Given the description of an element on the screen output the (x, y) to click on. 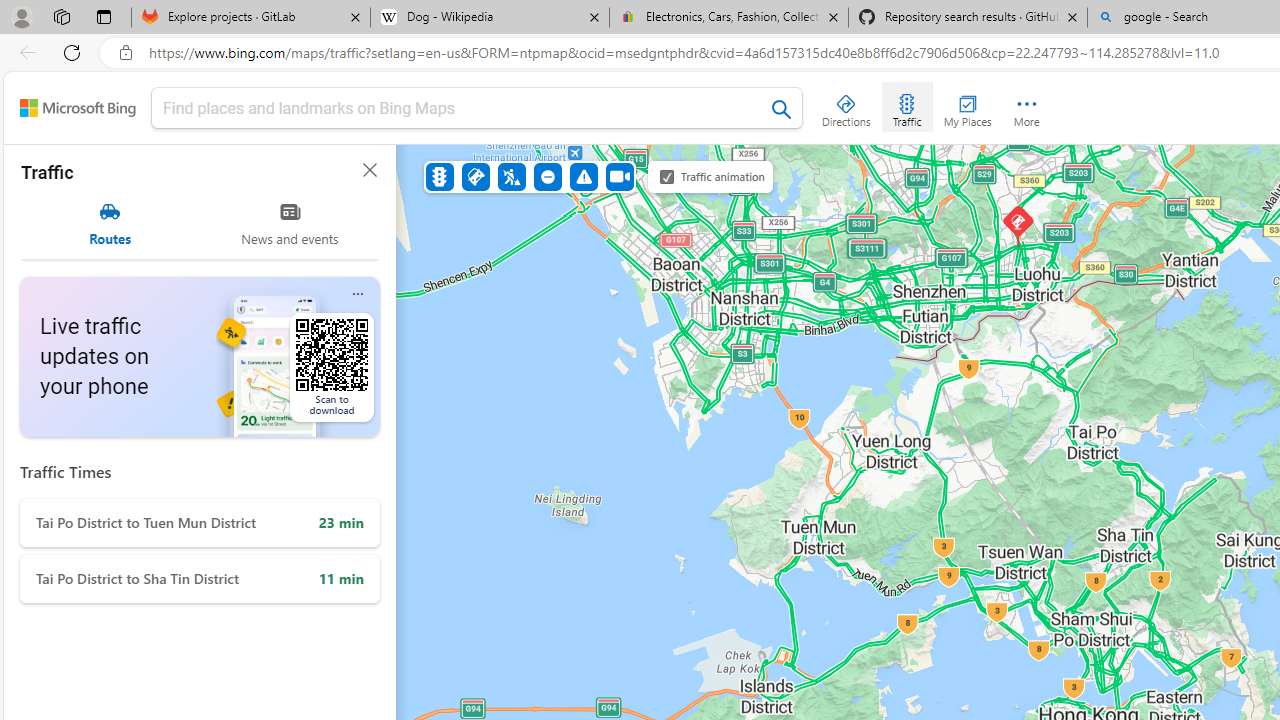
Construction (511, 176)
Miscellaneous incidents (583, 176)
Traffic animation (667, 176)
Add a search (461, 107)
Tai Po District to Tuen Mun District (200, 522)
Traffic (440, 176)
Tai Po District to Sha Tin District (200, 579)
More (1026, 106)
Directions (846, 106)
